Given the description of an element on the screen output the (x, y) to click on. 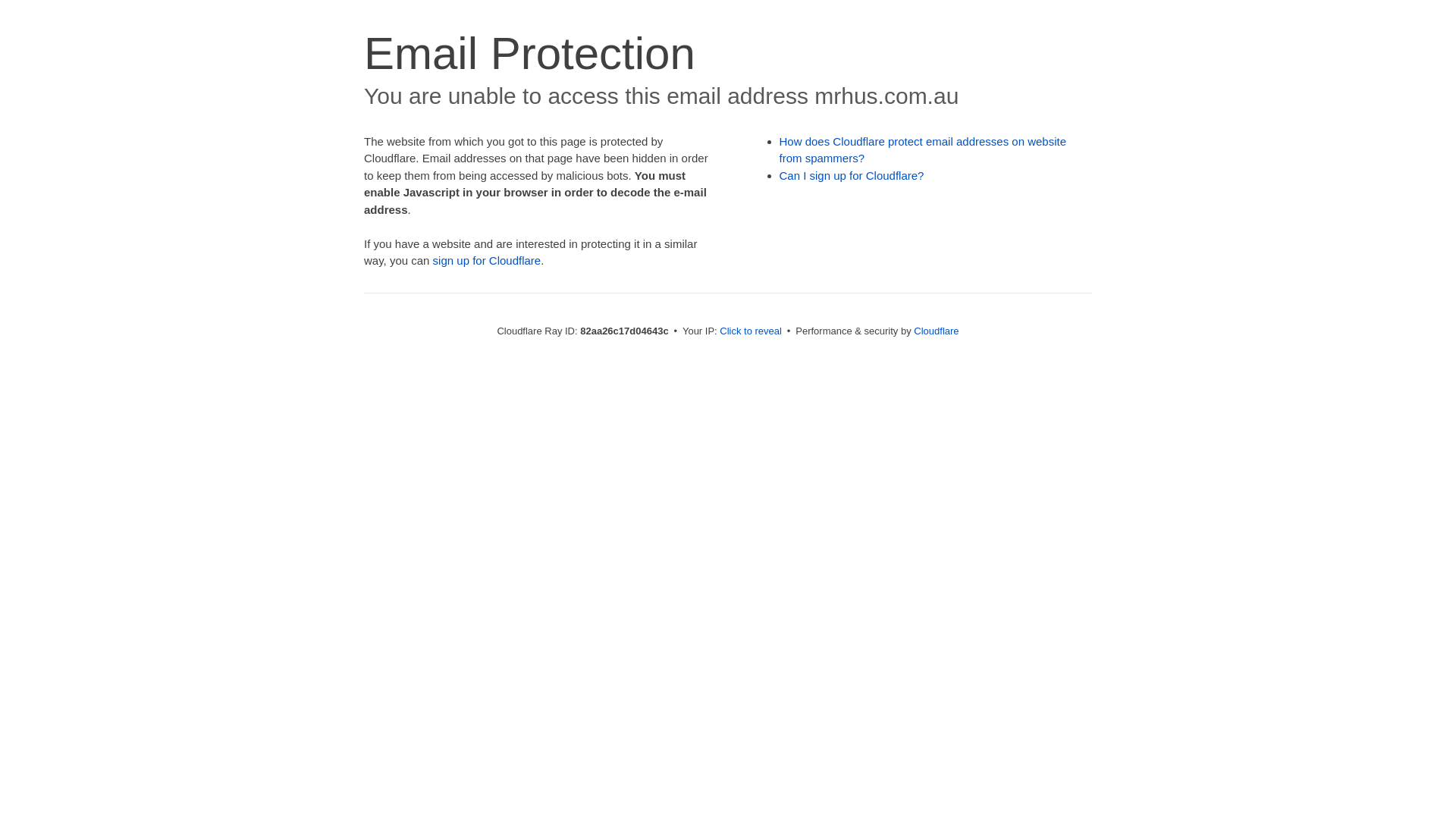
Click to reveal Element type: text (750, 330)
Cloudflare Element type: text (935, 330)
Can I sign up for Cloudflare? Element type: text (851, 175)
sign up for Cloudflare Element type: text (487, 260)
